Given the description of an element on the screen output the (x, y) to click on. 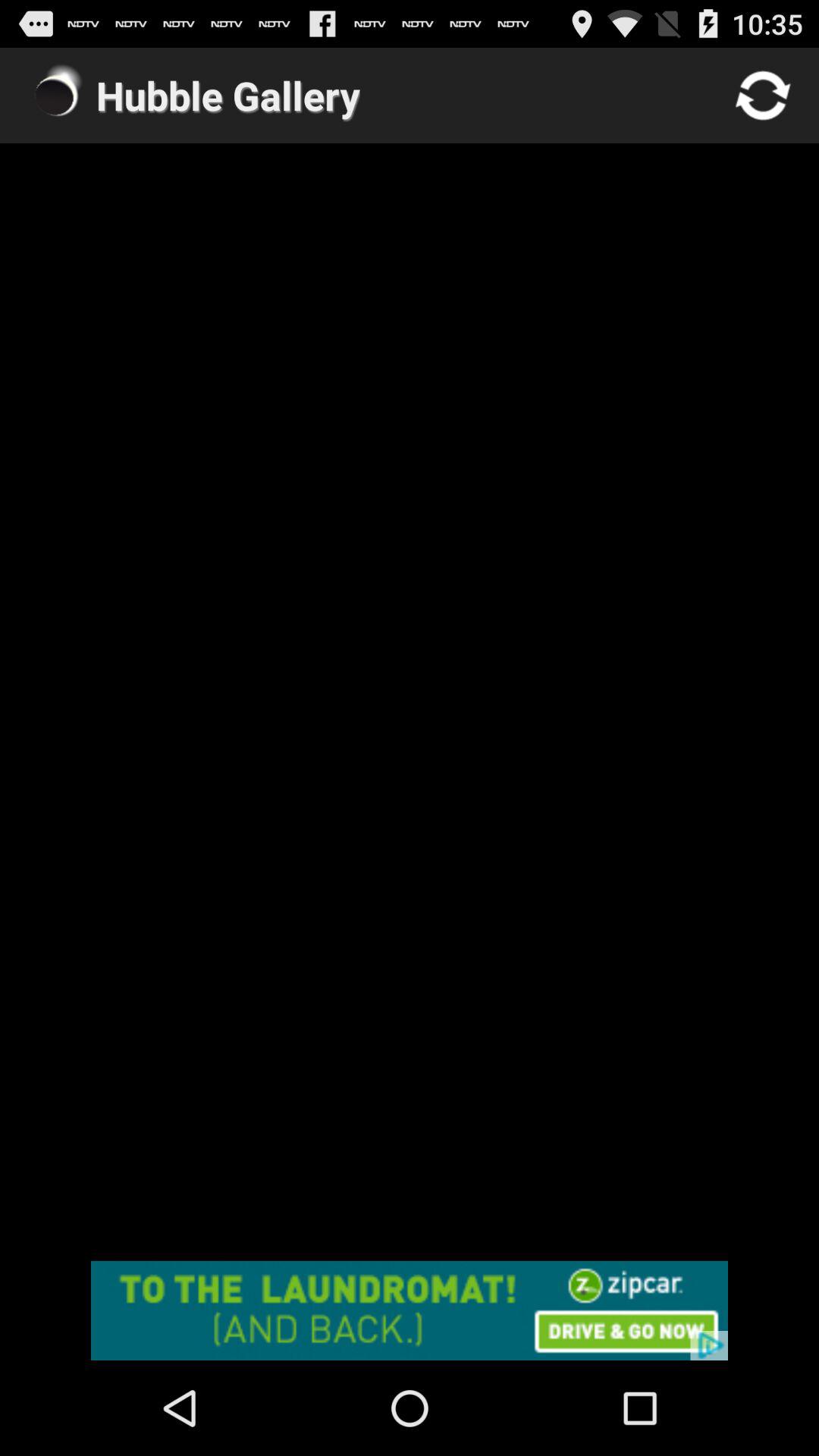
refresh (763, 95)
